Given the description of an element on the screen output the (x, y) to click on. 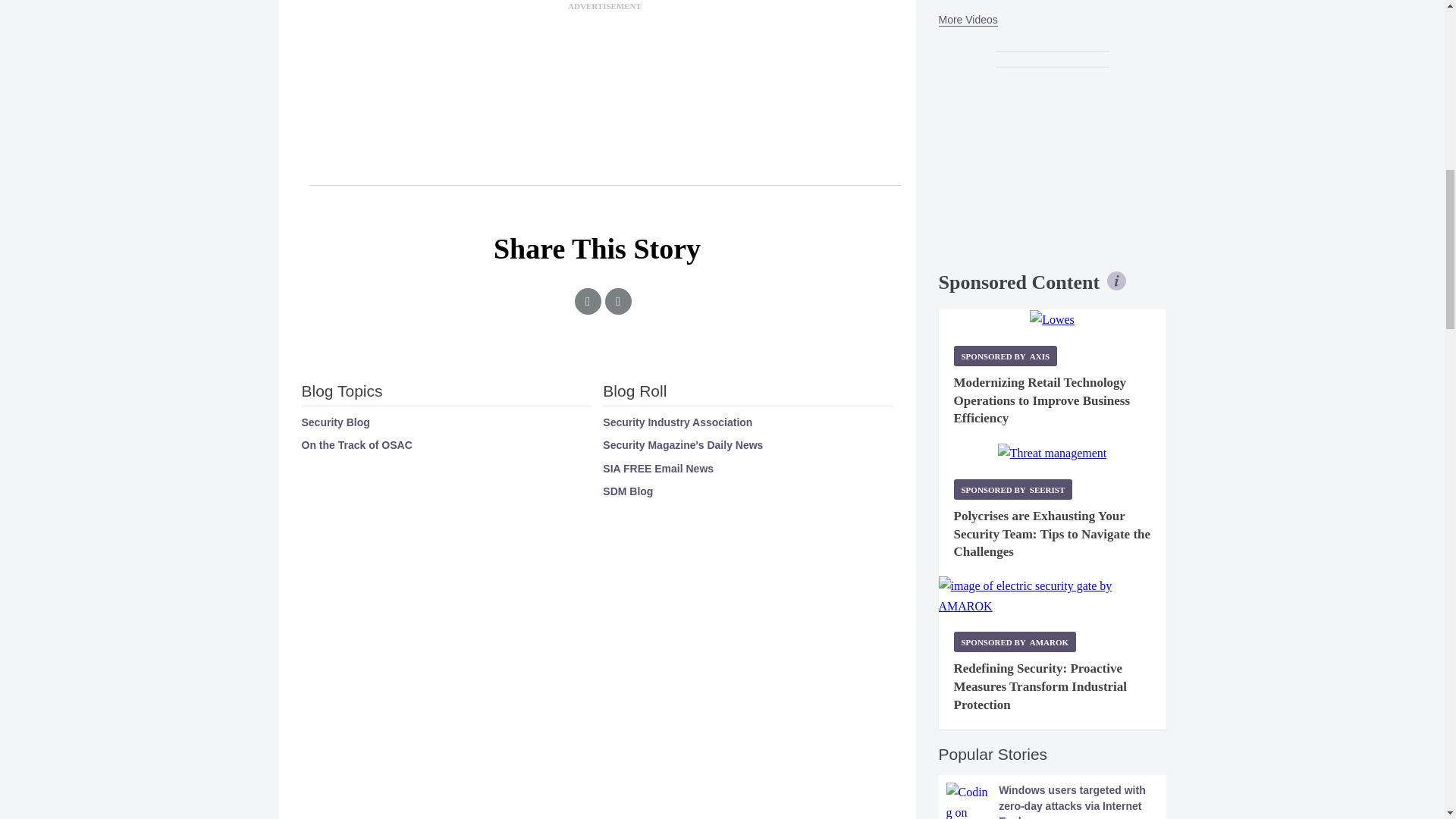
AMAROK Security Gate (1052, 596)
Security Blog (335, 422)
On the Track of OSAC (356, 444)
Security Industry Association (677, 422)
Lowes (1051, 320)
Sponsored by AMAROK (1015, 641)
SIA FREE Email News (657, 468)
SDM Blog (627, 491)
Sponsored by Seerist (1013, 489)
